Given the description of an element on the screen output the (x, y) to click on. 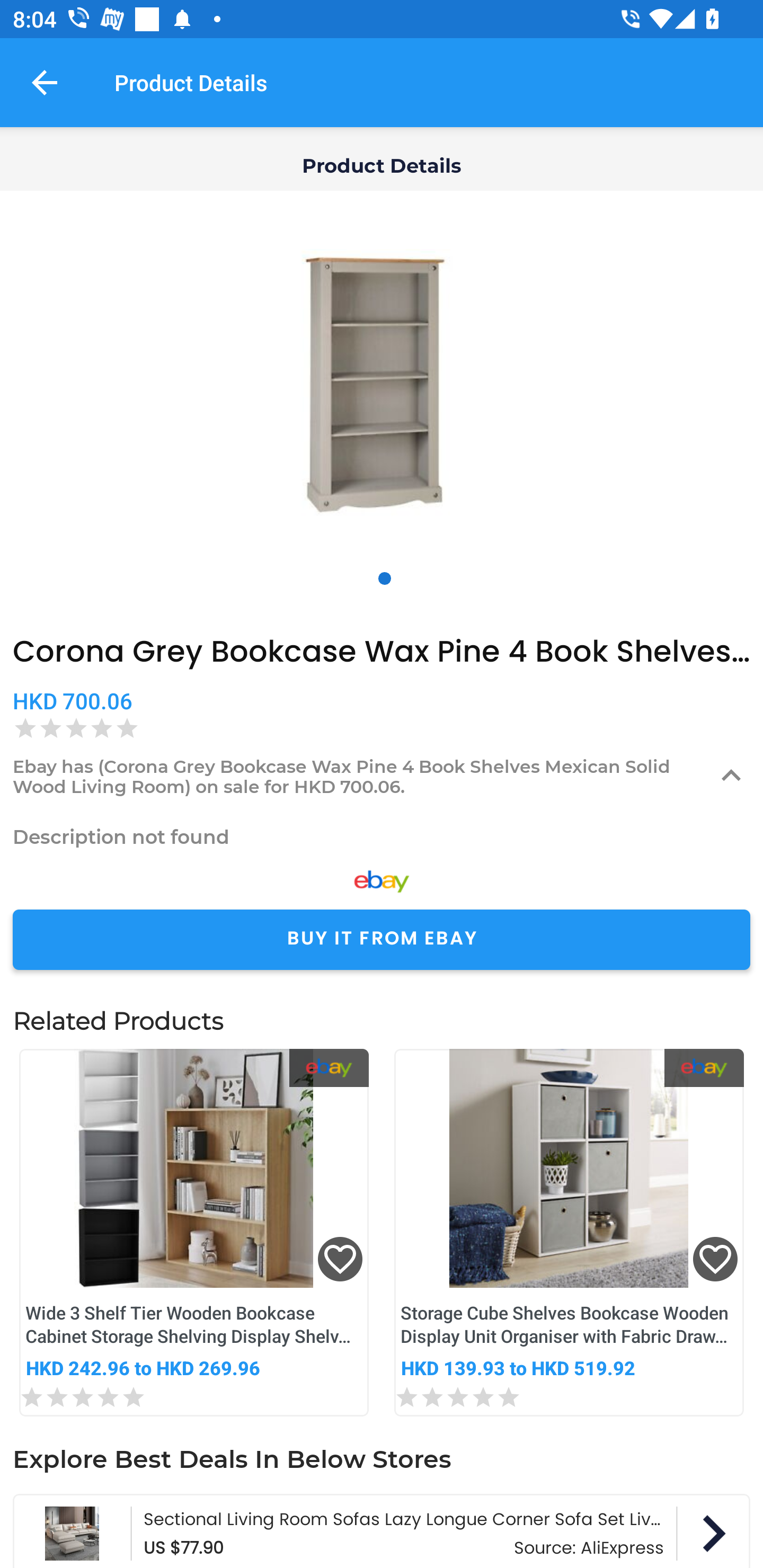
Navigate up (44, 82)
Description not found (381, 836)
BUY IT FROM EBAY (381, 940)
